Given the description of an element on the screen output the (x, y) to click on. 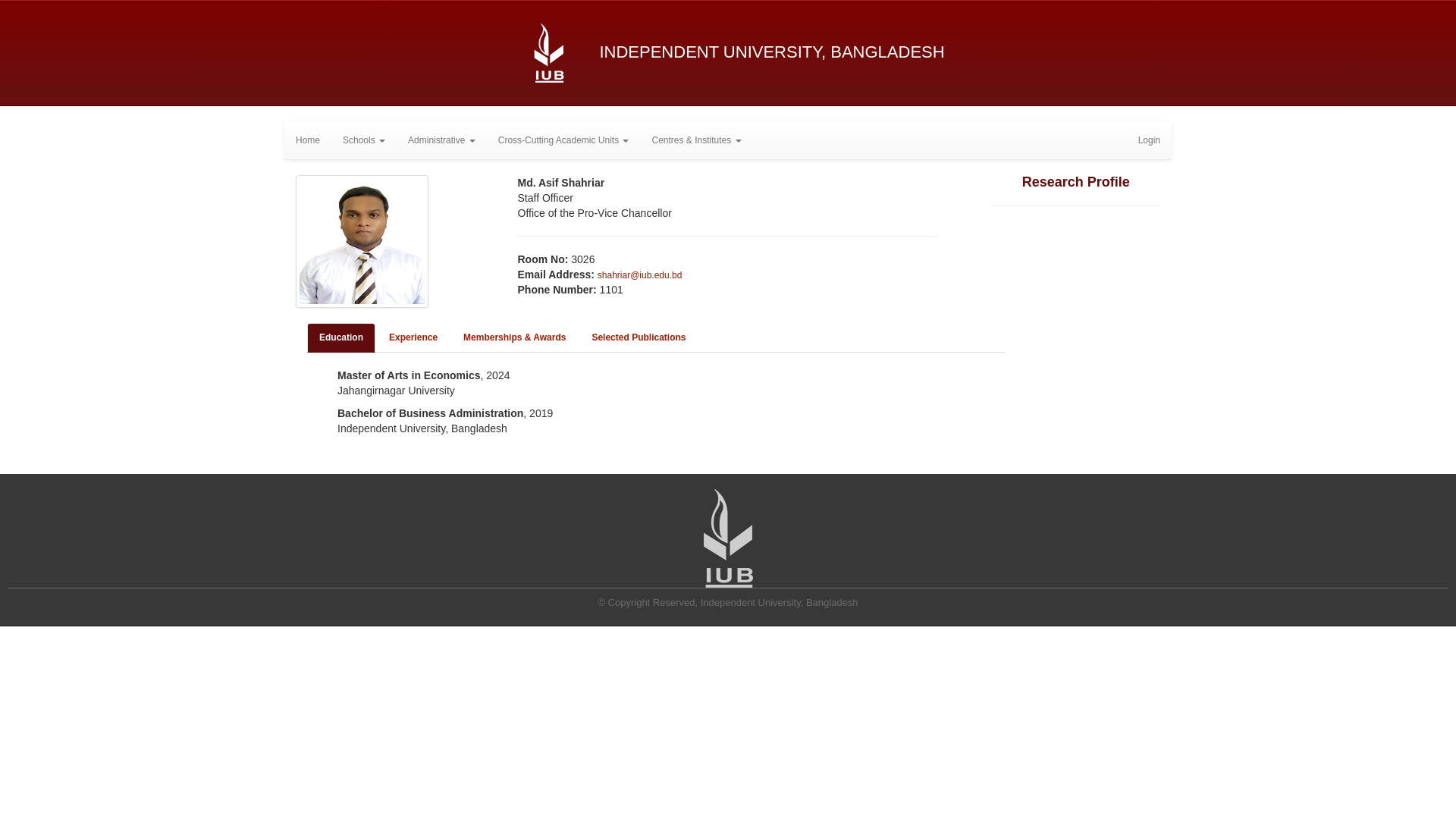
Selected Publications Element type: text (638, 337)
Cross-Cutting Academic Units Element type: text (563, 140)
shahriar@iub.edu.bd Element type: text (639, 274)
Memberships & Awards Element type: text (514, 337)
Home Element type: text (307, 140)
Schools Element type: text (363, 140)
Centres & Institutes Element type: text (696, 140)
Experience Element type: text (412, 337)
Administrative Element type: text (441, 140)
Login Element type: text (1148, 140)
Education Element type: text (341, 337)
